Given the description of an element on the screen output the (x, y) to click on. 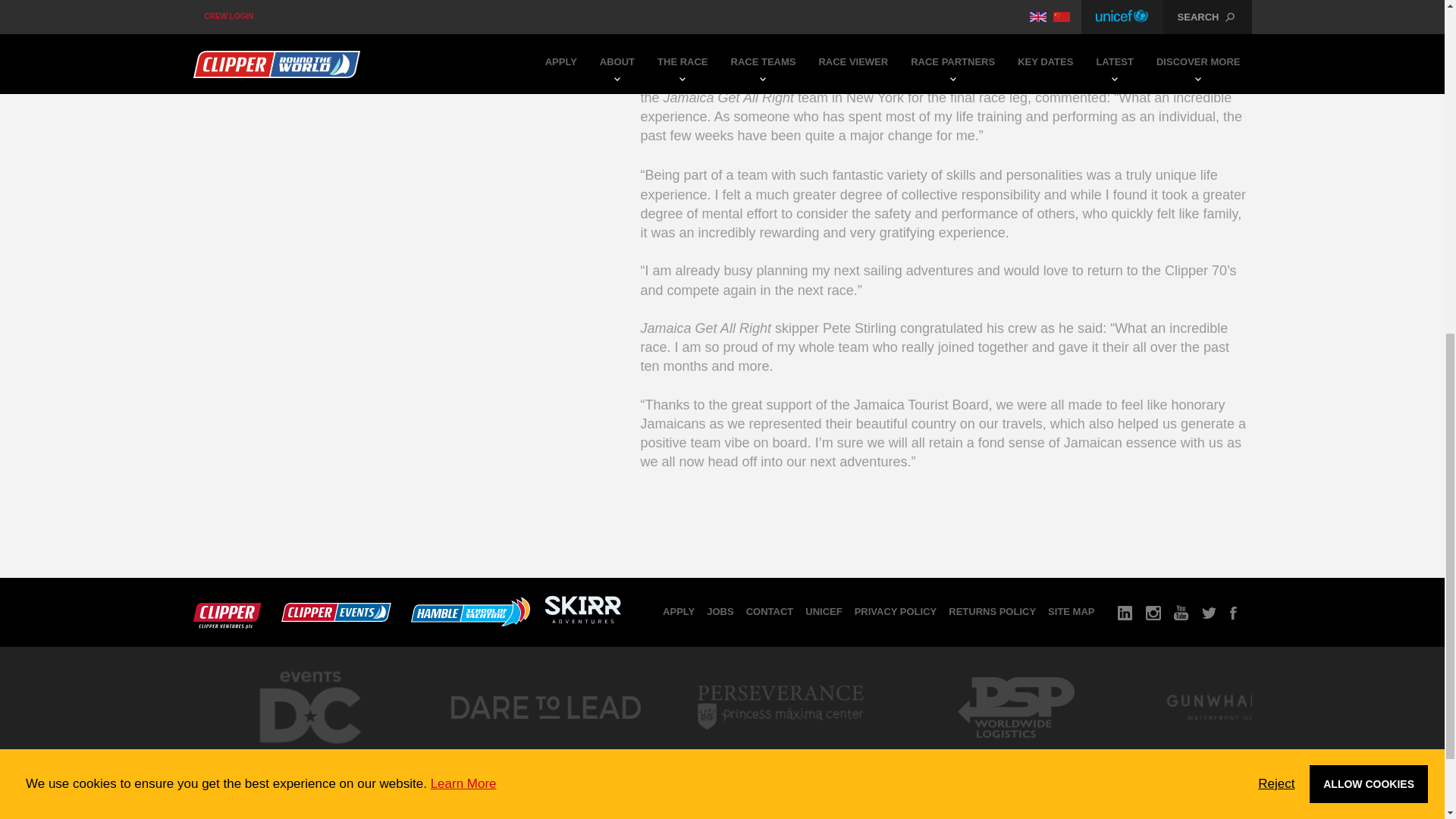
Gunwharf Quays (1250, 751)
Perseverance (780, 751)
PSP Logistics (1014, 751)
Dare To Lead (544, 751)
Events DC (309, 757)
